Given the description of an element on the screen output the (x, y) to click on. 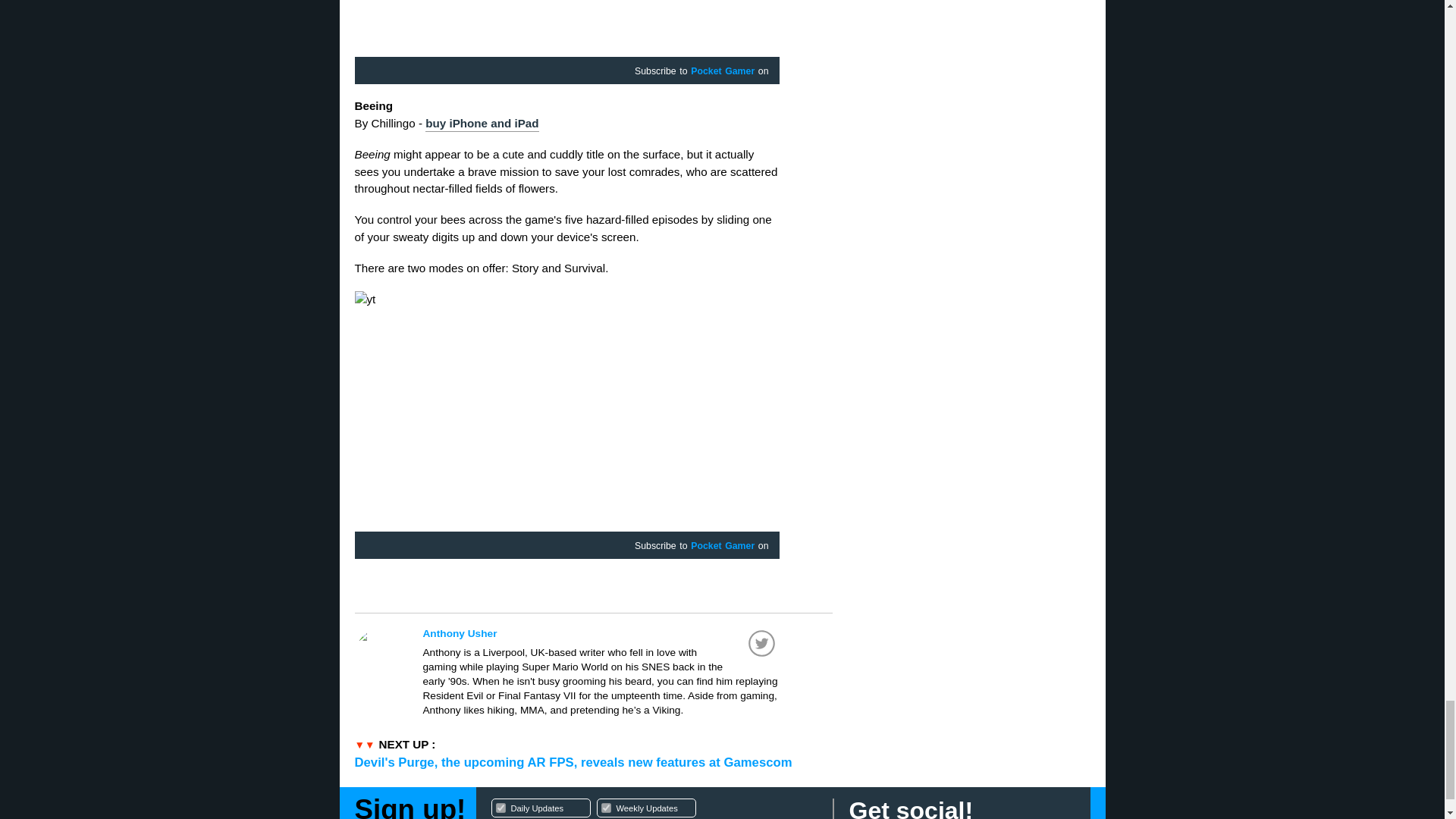
2 (604, 808)
1 (654, 806)
